Given the description of an element on the screen output the (x, y) to click on. 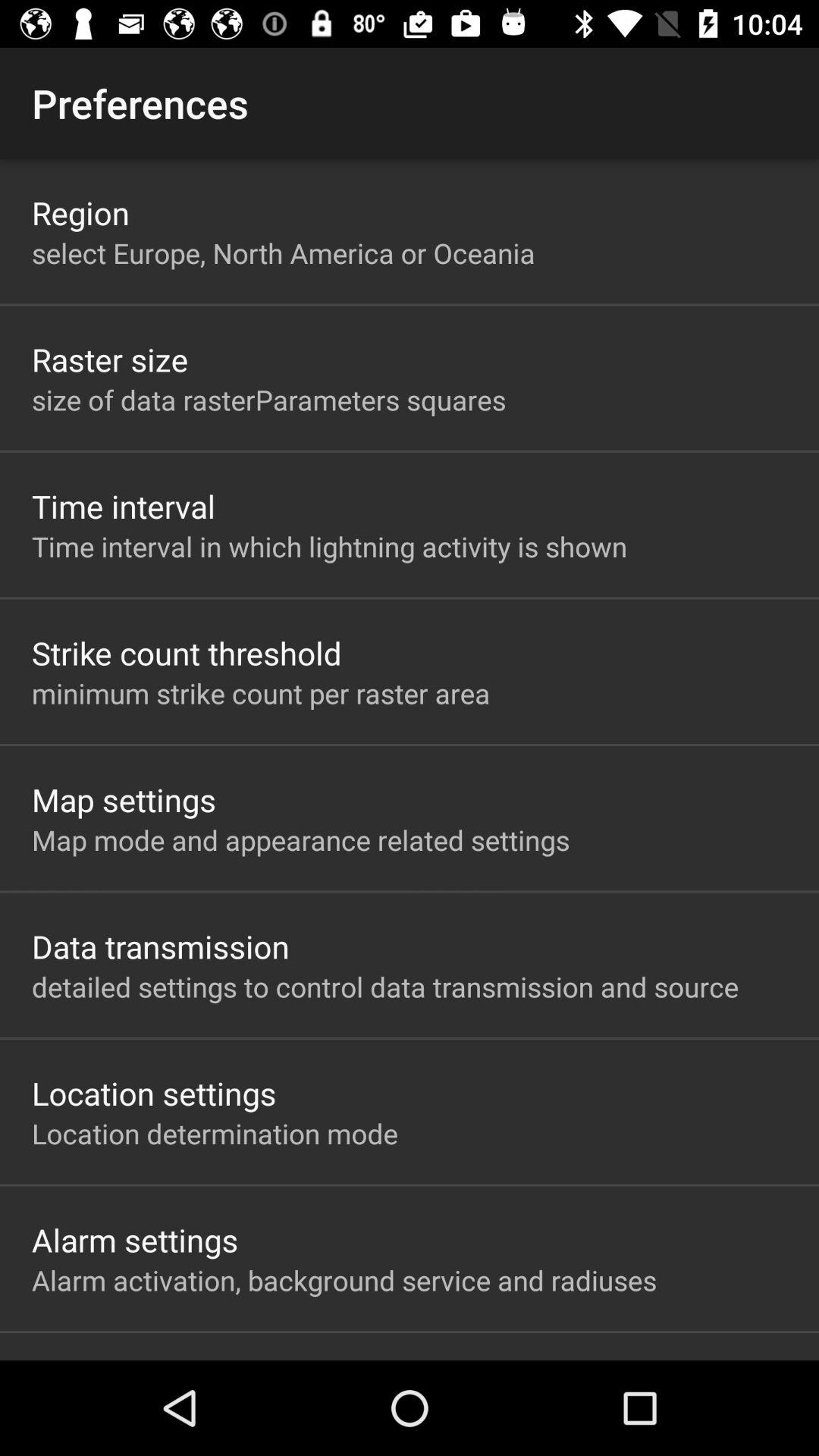
choose icon below the detailed settings to item (153, 1092)
